Given the description of an element on the screen output the (x, y) to click on. 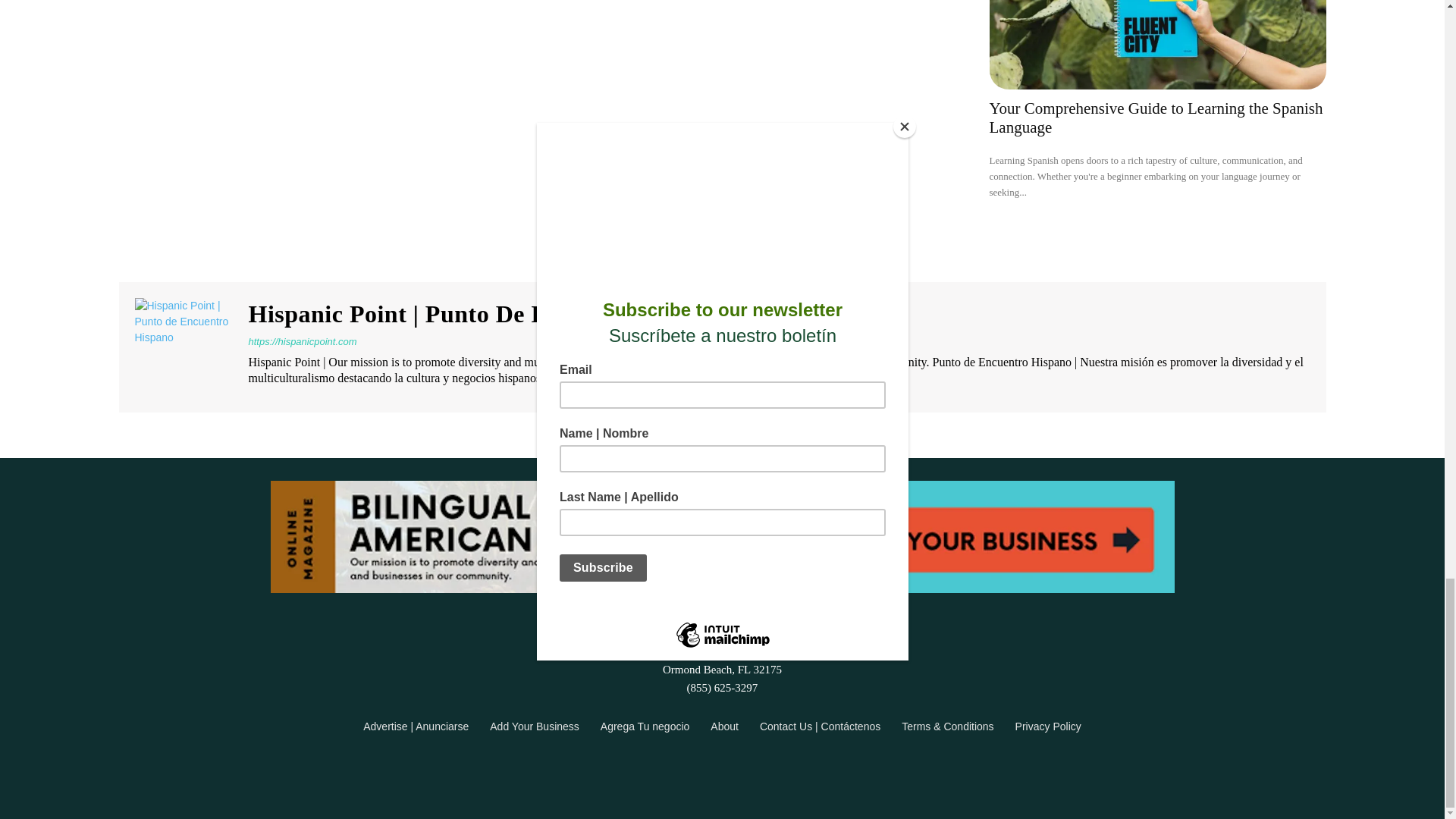
Linkedin (707, 609)
Your Comprehensive Guide to Learning the Spanish Language (1156, 44)
Your Comprehensive Guide to Learning the Spanish Language (1155, 117)
